Given the description of an element on the screen output the (x, y) to click on. 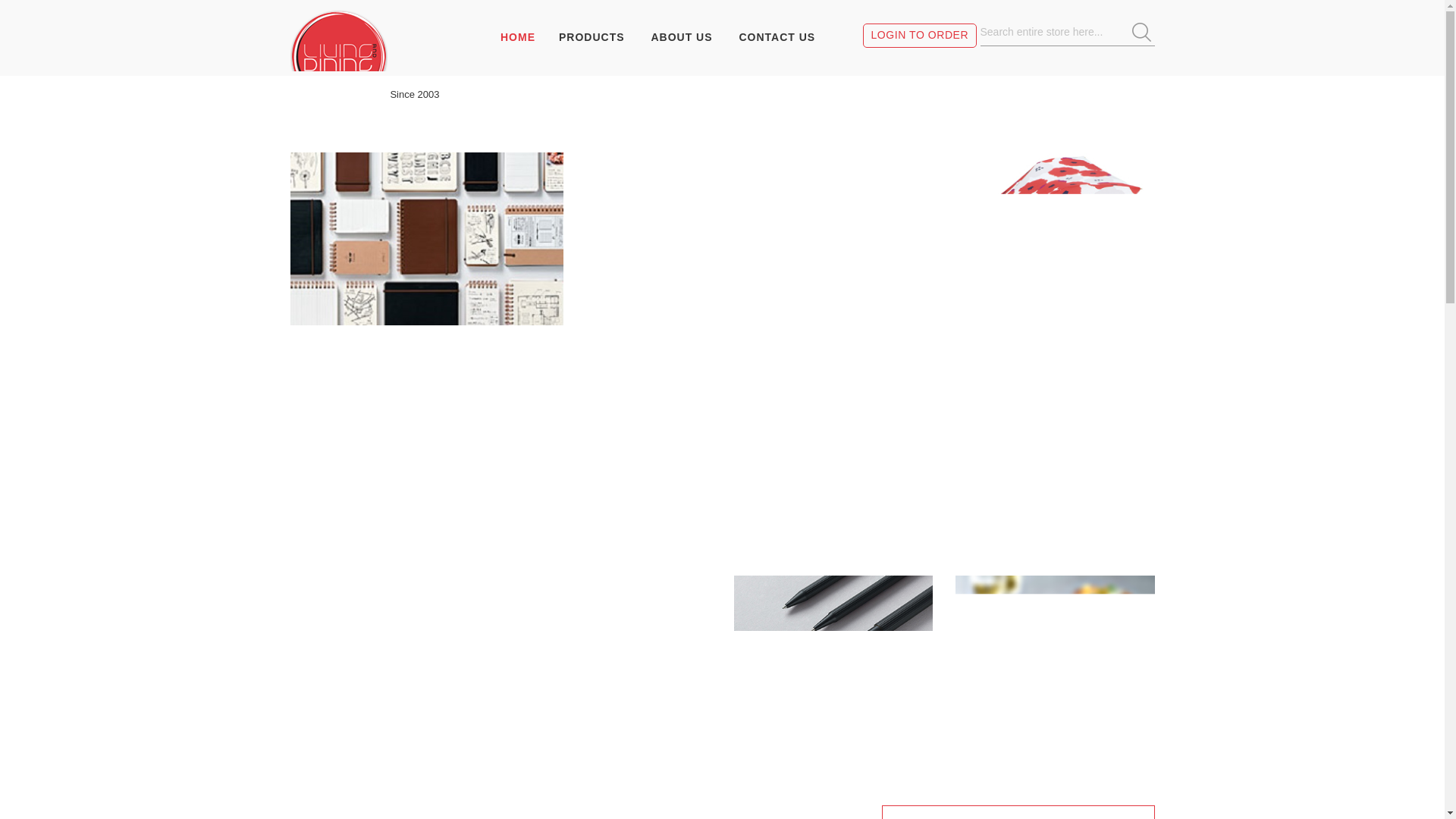
HOME Element type: text (523, 36)
CONTACT US Element type: text (776, 36)
PRODUCTS Element type: text (591, 36)
ABOUT US Element type: text (681, 36)
LOGIN TO ORDER Element type: text (919, 35)
Search Element type: text (1141, 31)
